Given the description of an element on the screen output the (x, y) to click on. 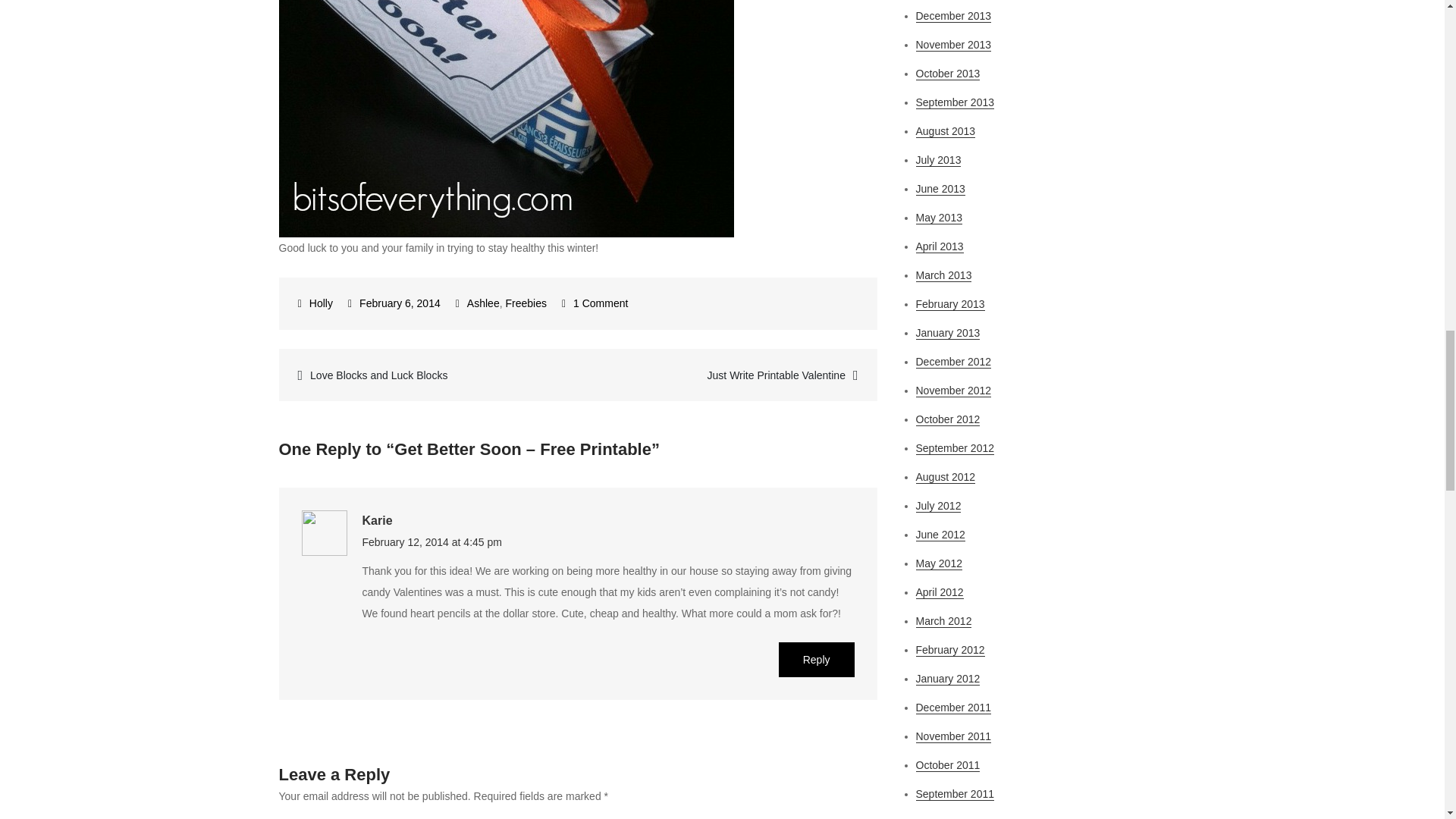
Freebies (525, 303)
Just Write Printable Valentine (727, 374)
Love Blocks and Luck Blocks (428, 374)
Holly (315, 303)
Reply (816, 659)
Ashlee (483, 303)
February 12, 2014 at 4:45 pm (432, 541)
February 6, 2014 (394, 303)
